Given the description of an element on the screen output the (x, y) to click on. 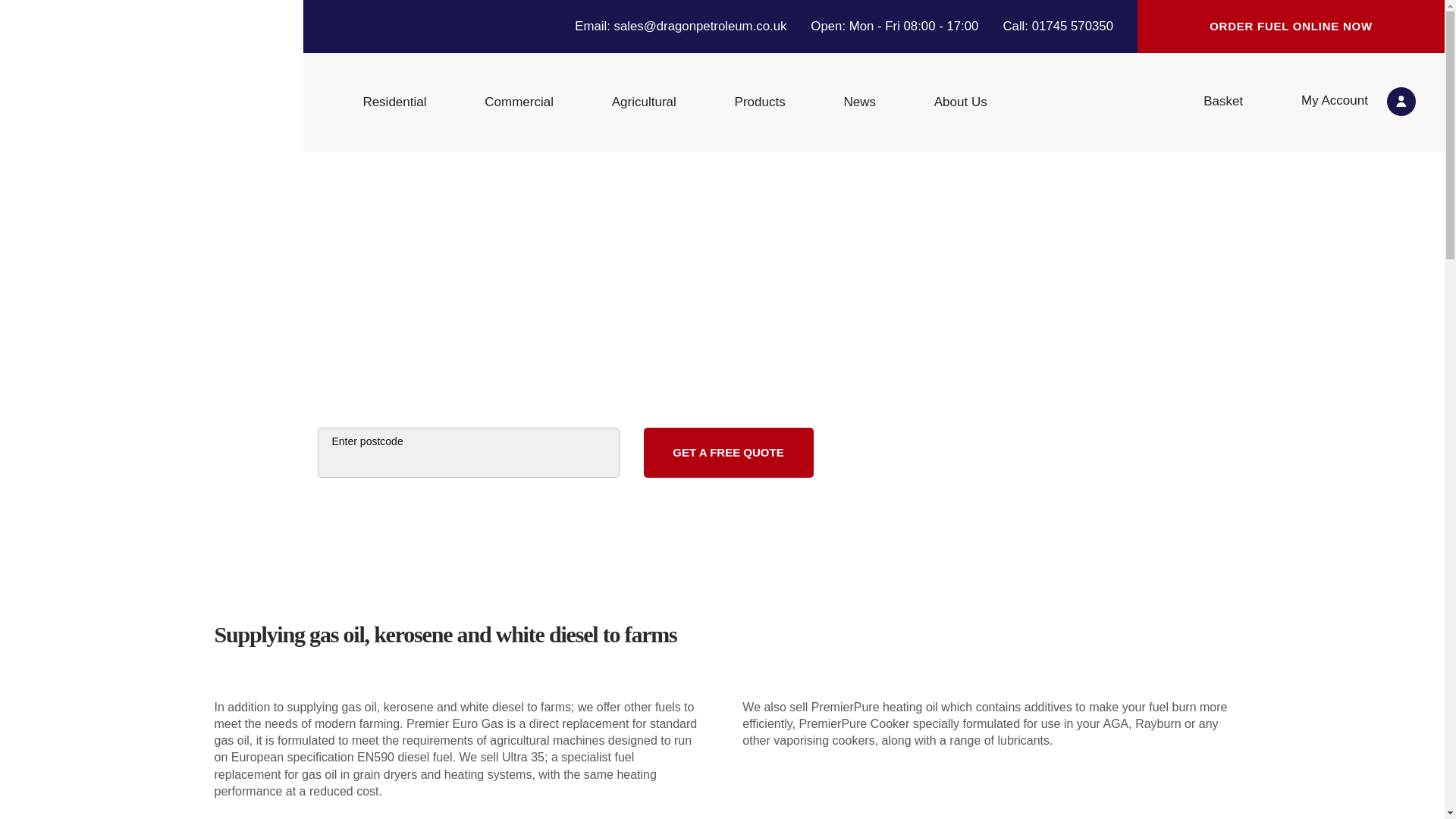
Products (760, 101)
Agricultural (644, 101)
Basket (1223, 101)
GET A FREE QUOTE (727, 452)
About Us (960, 101)
Residential (394, 101)
My Account (1358, 100)
Commercial (518, 101)
01745 570350 (1072, 26)
News (859, 101)
